Given the description of an element on the screen output the (x, y) to click on. 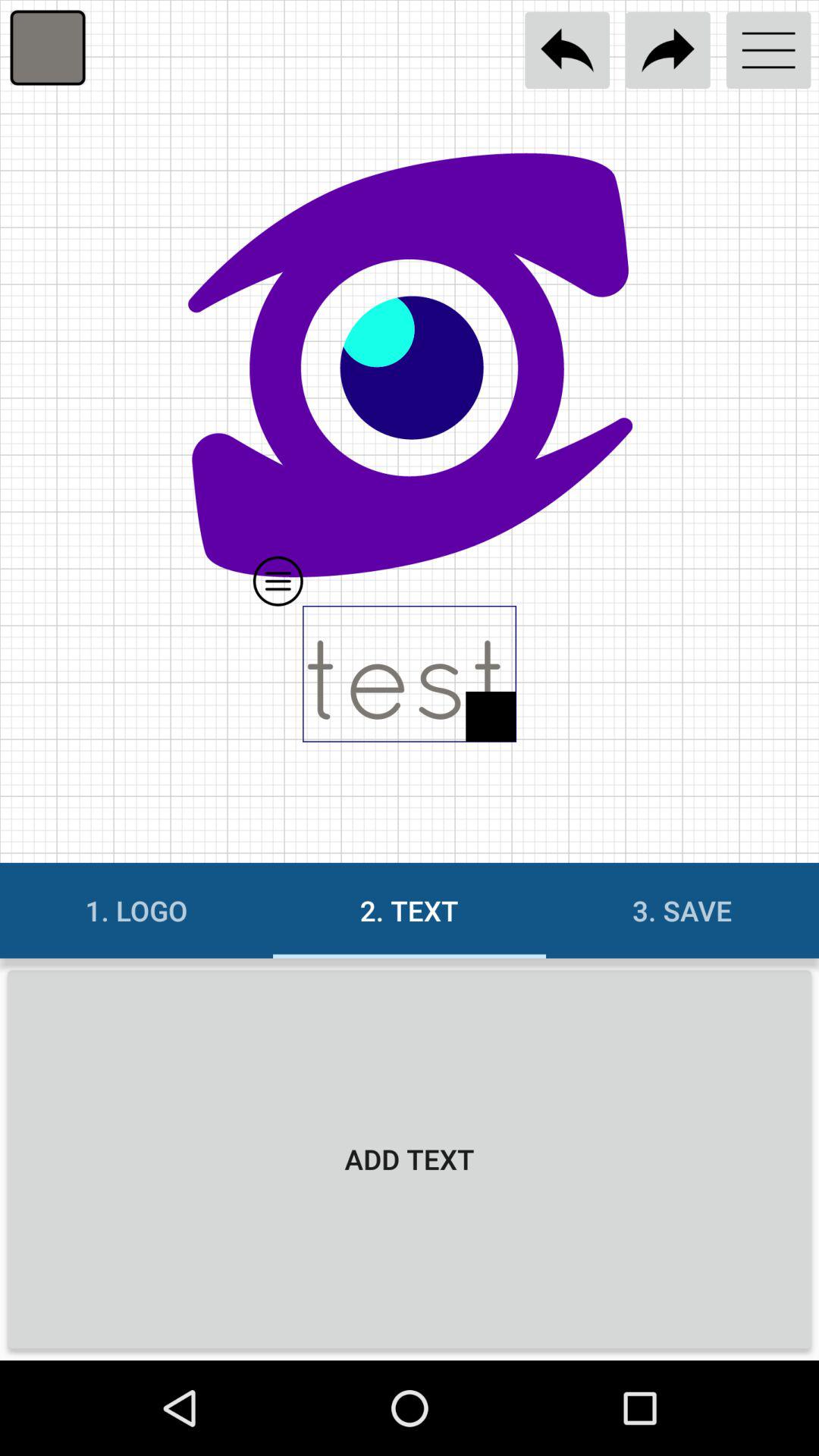
more options (768, 50)
